Given the description of an element on the screen output the (x, y) to click on. 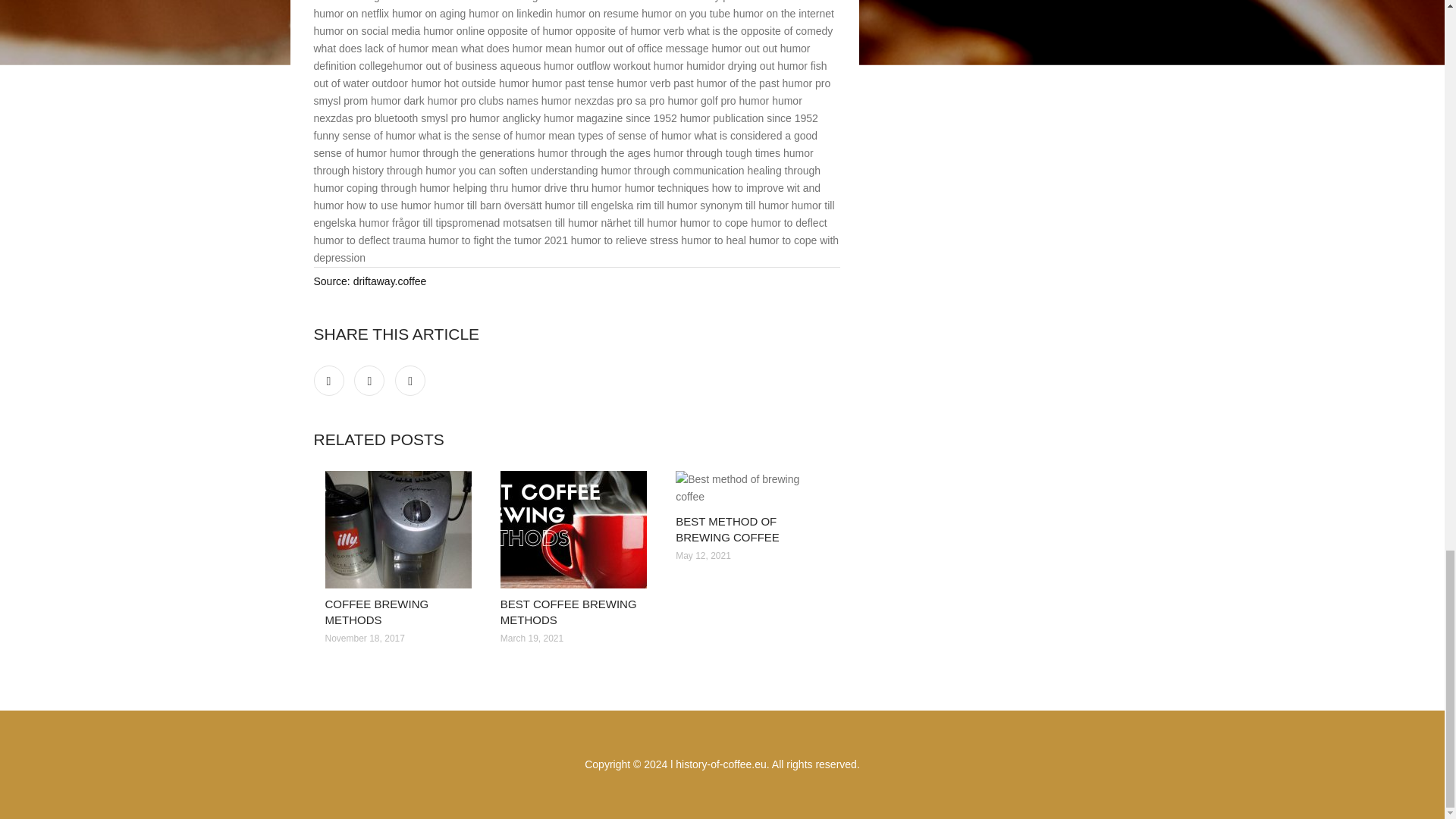
Best method of brewing coffee (751, 488)
Coffee brewing methods (400, 529)
Best coffee brewing methods (576, 529)
